Given the description of an element on the screen output the (x, y) to click on. 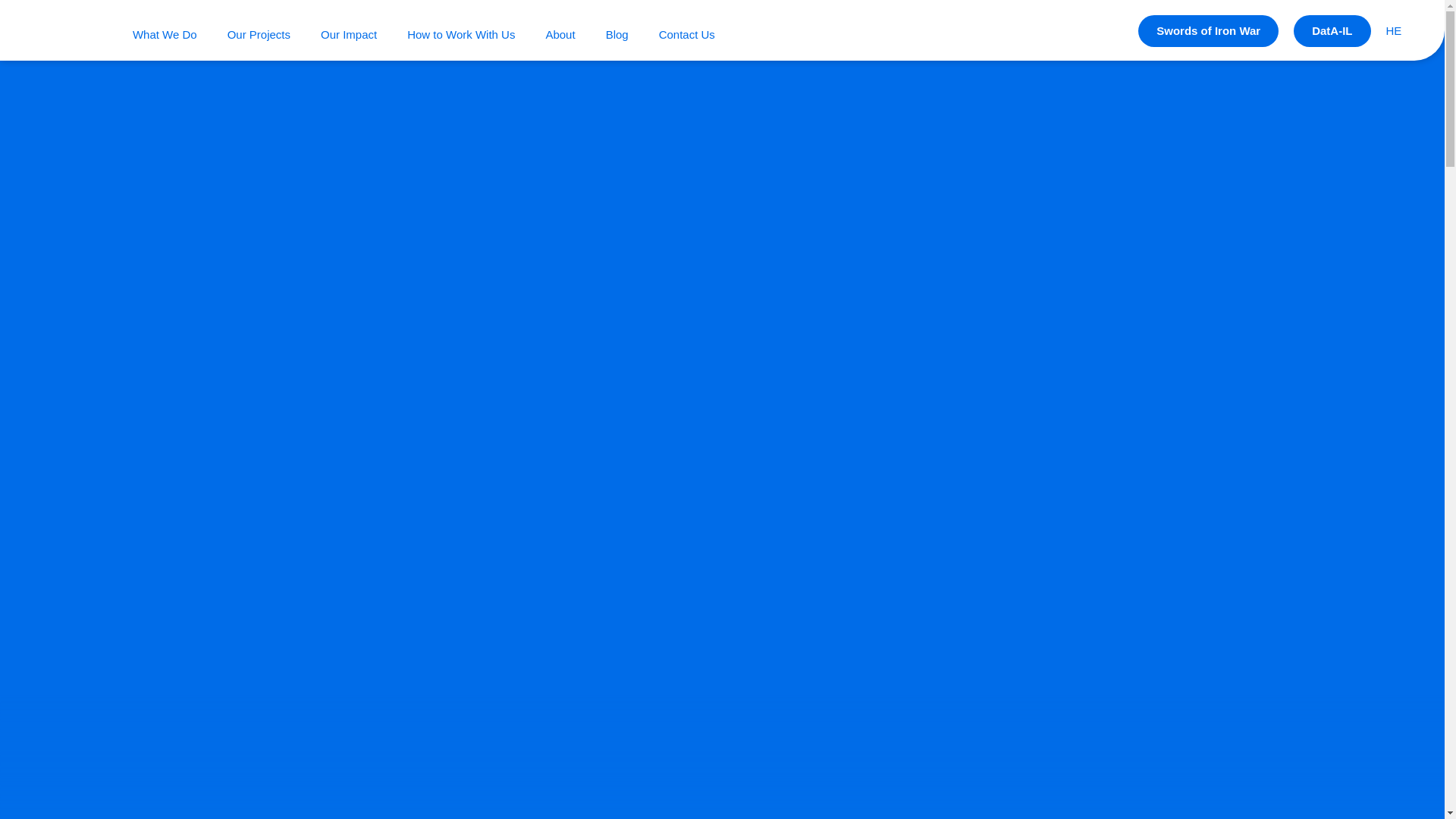
HE (1394, 30)
Swords of Iron War (1208, 30)
About (559, 33)
What We Do (164, 33)
How to Work With Us (461, 33)
DatA-IL (1332, 30)
Our Projects (258, 33)
Our Impact (348, 33)
Contact Us (686, 33)
